Given the description of an element on the screen output the (x, y) to click on. 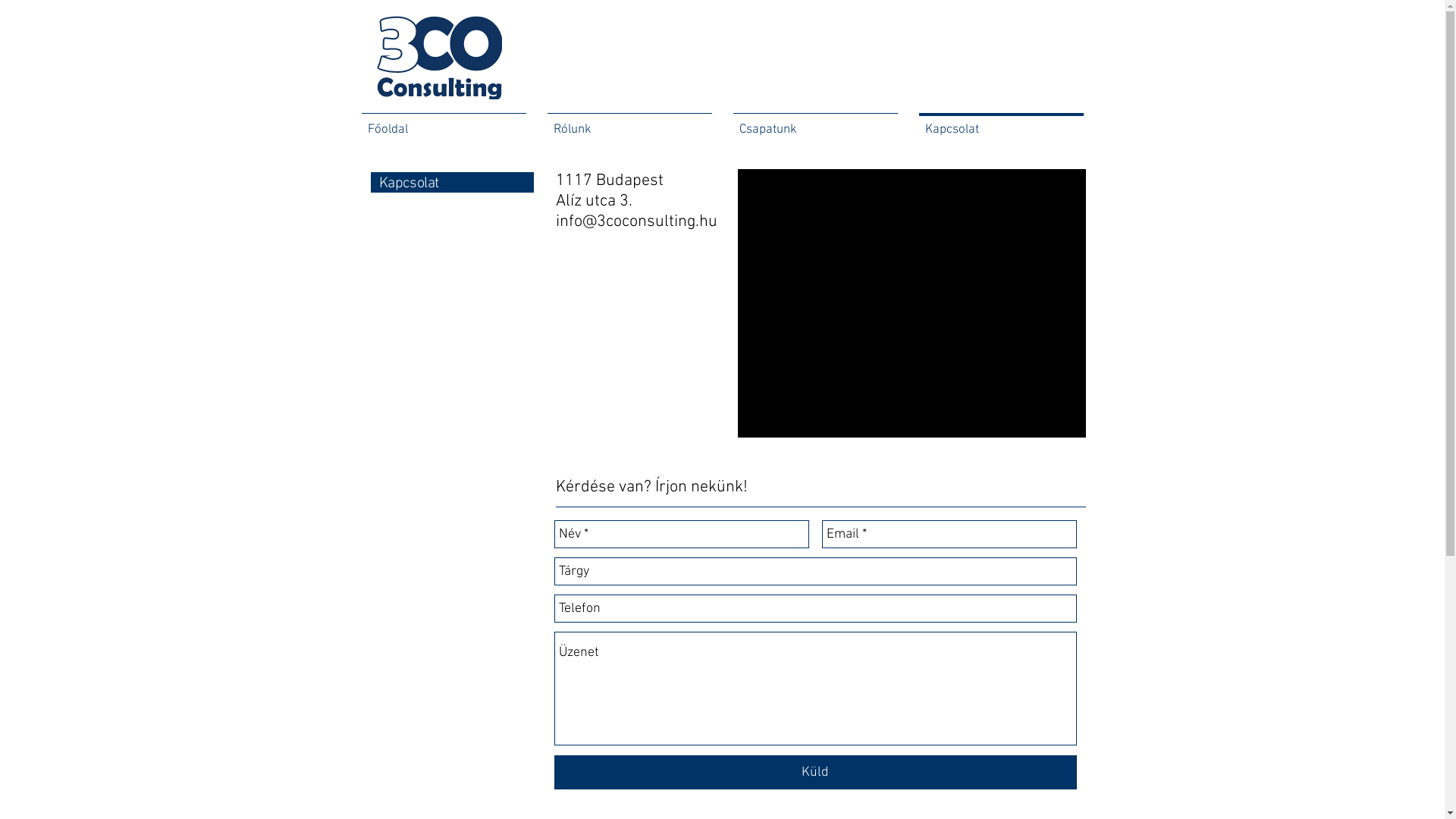
info@3coconsulting.hu Element type: text (635, 221)
Csapatunk Element type: text (814, 122)
Google Maps Element type: hover (911, 302)
Kapcsolat Element type: text (1001, 122)
